Given the description of an element on the screen output the (x, y) to click on. 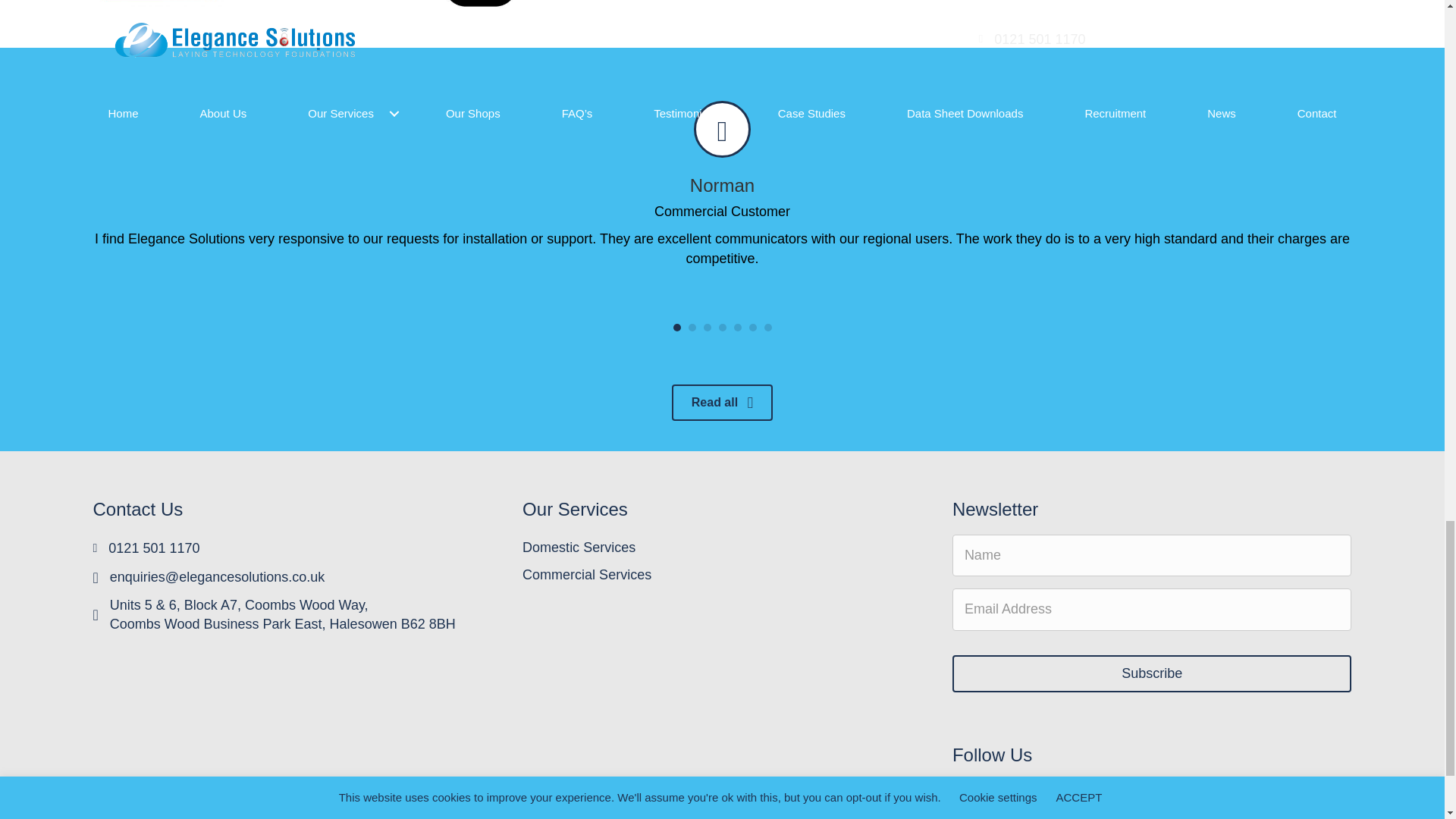
Subscribe (1152, 673)
ECA Reg Mem Logo Strap Blue (158, 3)
